Given the description of an element on the screen output the (x, y) to click on. 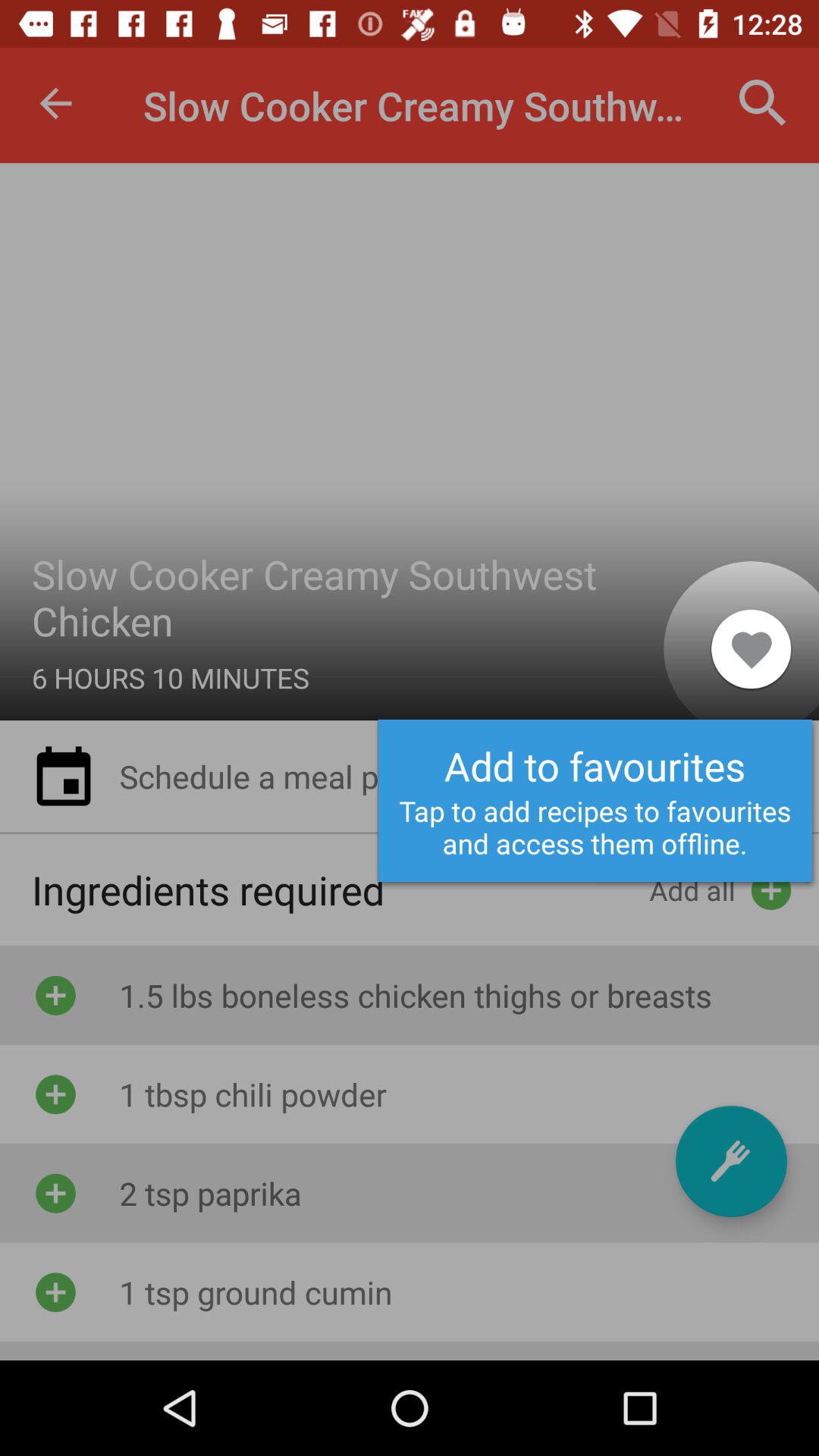
add to favorites (731, 1161)
